Given the description of an element on the screen output the (x, y) to click on. 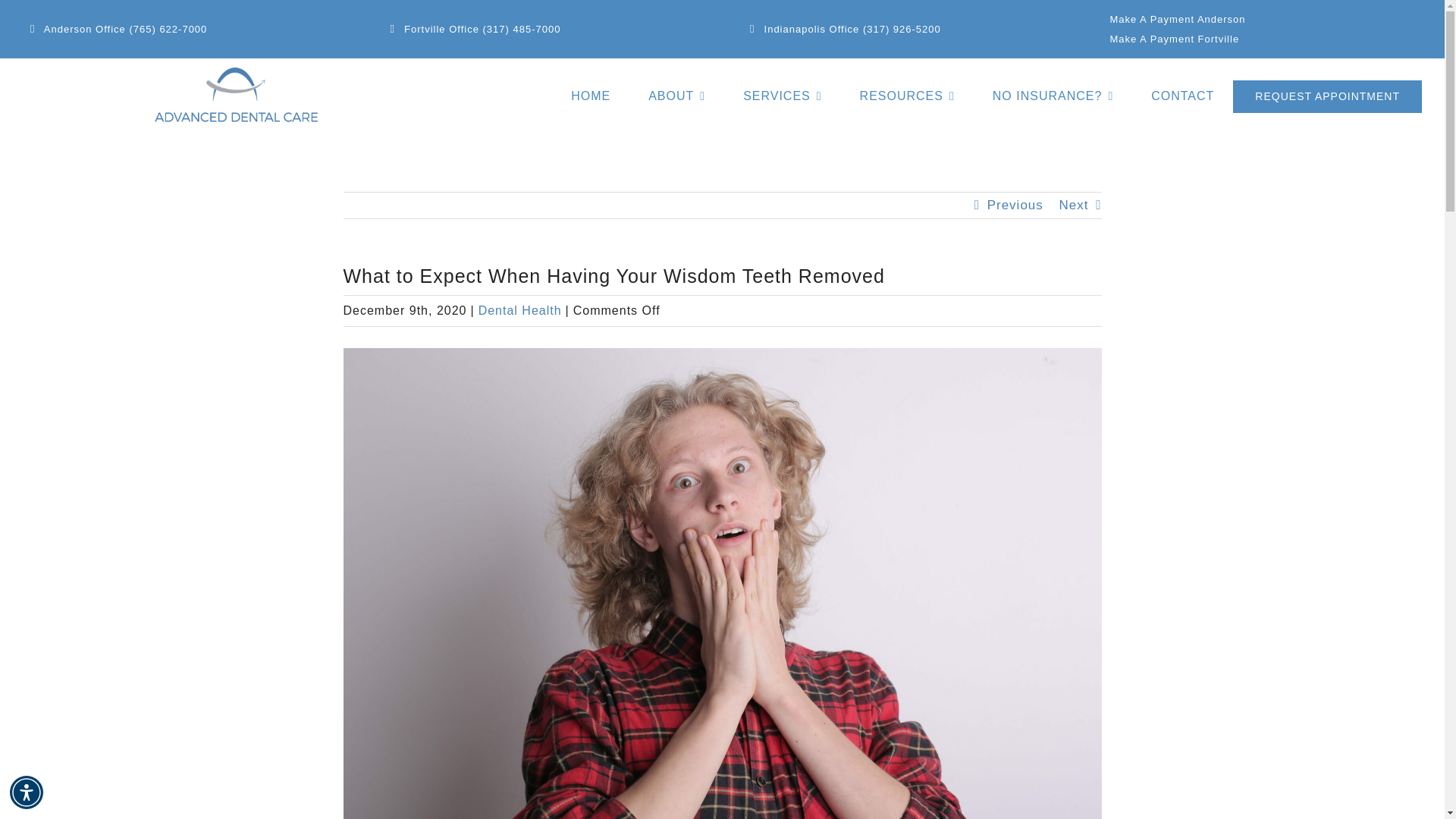
SERVICES (781, 96)
Make A Payment Anderson (1176, 19)
Make A Payment Fortville (1174, 39)
Accessibility Menu (26, 792)
HOME (589, 96)
ABOUT (675, 96)
